Given the description of an element on the screen output the (x, y) to click on. 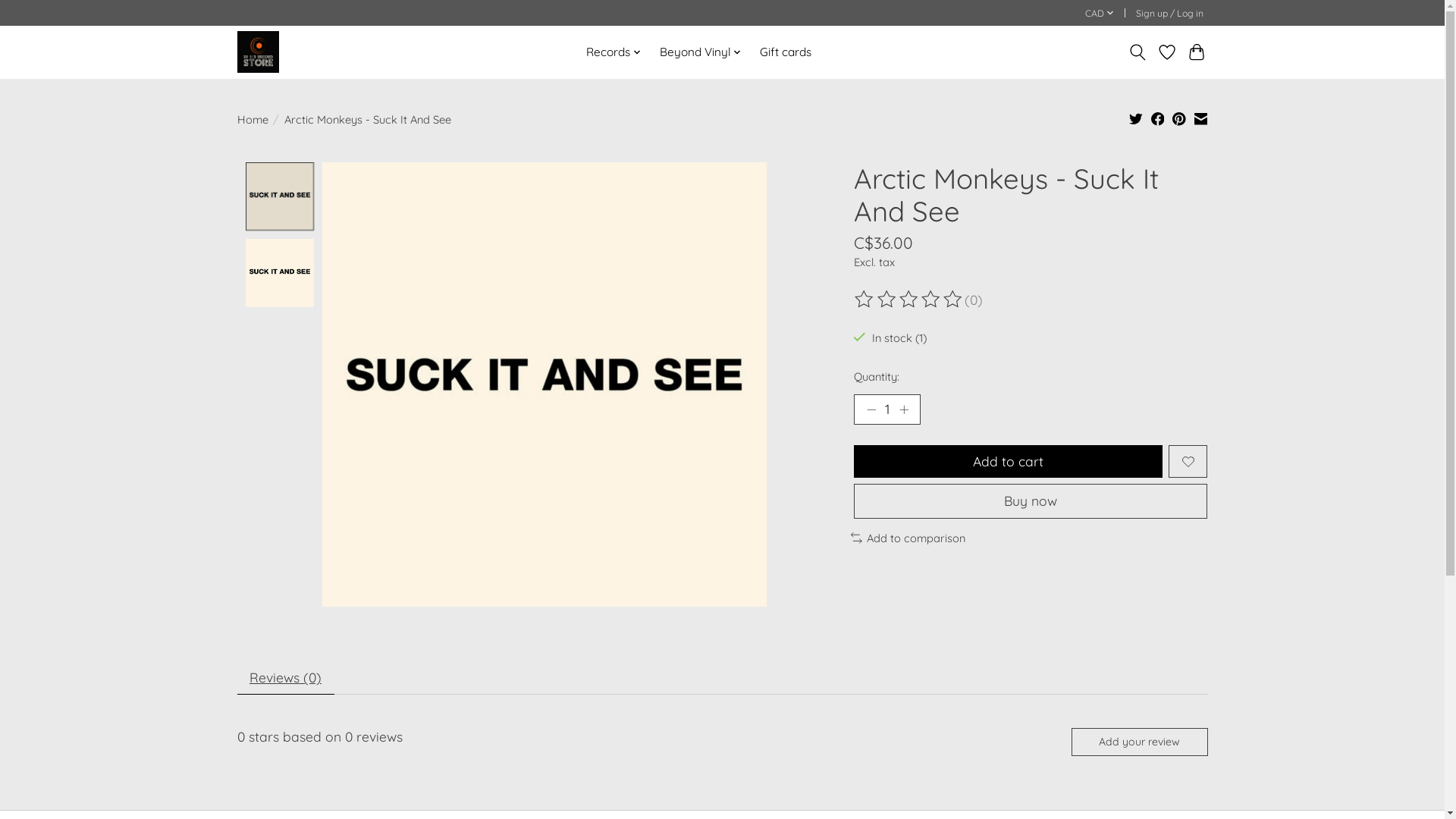
33 1/3 Record Store Element type: hover (257, 51)
Share by Email Element type: text (1201, 120)
Share on Facebook Element type: text (1157, 120)
Beyond Vinyl Element type: text (700, 51)
Share on Twitter Element type: text (1135, 120)
Home Element type: text (251, 119)
Sign up / Log in Element type: text (1169, 12)
Gift cards Element type: text (785, 51)
Add to comparison Element type: text (908, 537)
Add your review Element type: text (1139, 741)
Records Element type: text (613, 51)
CAD Element type: text (1099, 12)
Buy now Element type: text (1030, 500)
Share on Pinterest Element type: text (1179, 120)
Reviews (0) Element type: text (284, 677)
Add to cart Element type: text (1007, 461)
